Given the description of an element on the screen output the (x, y) to click on. 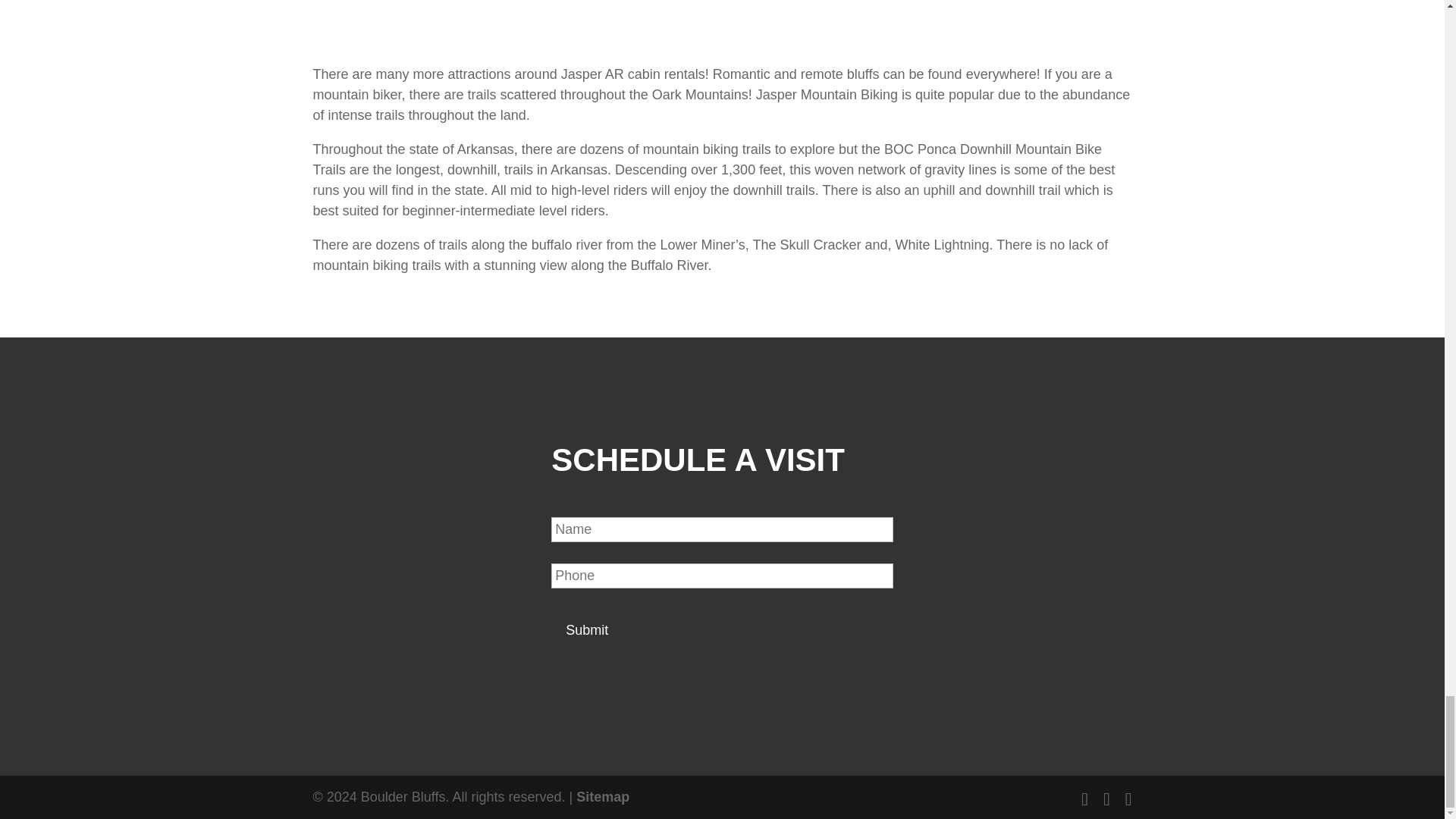
Sitemap (602, 796)
Submit (587, 630)
Submit (587, 630)
